Given the description of an element on the screen output the (x, y) to click on. 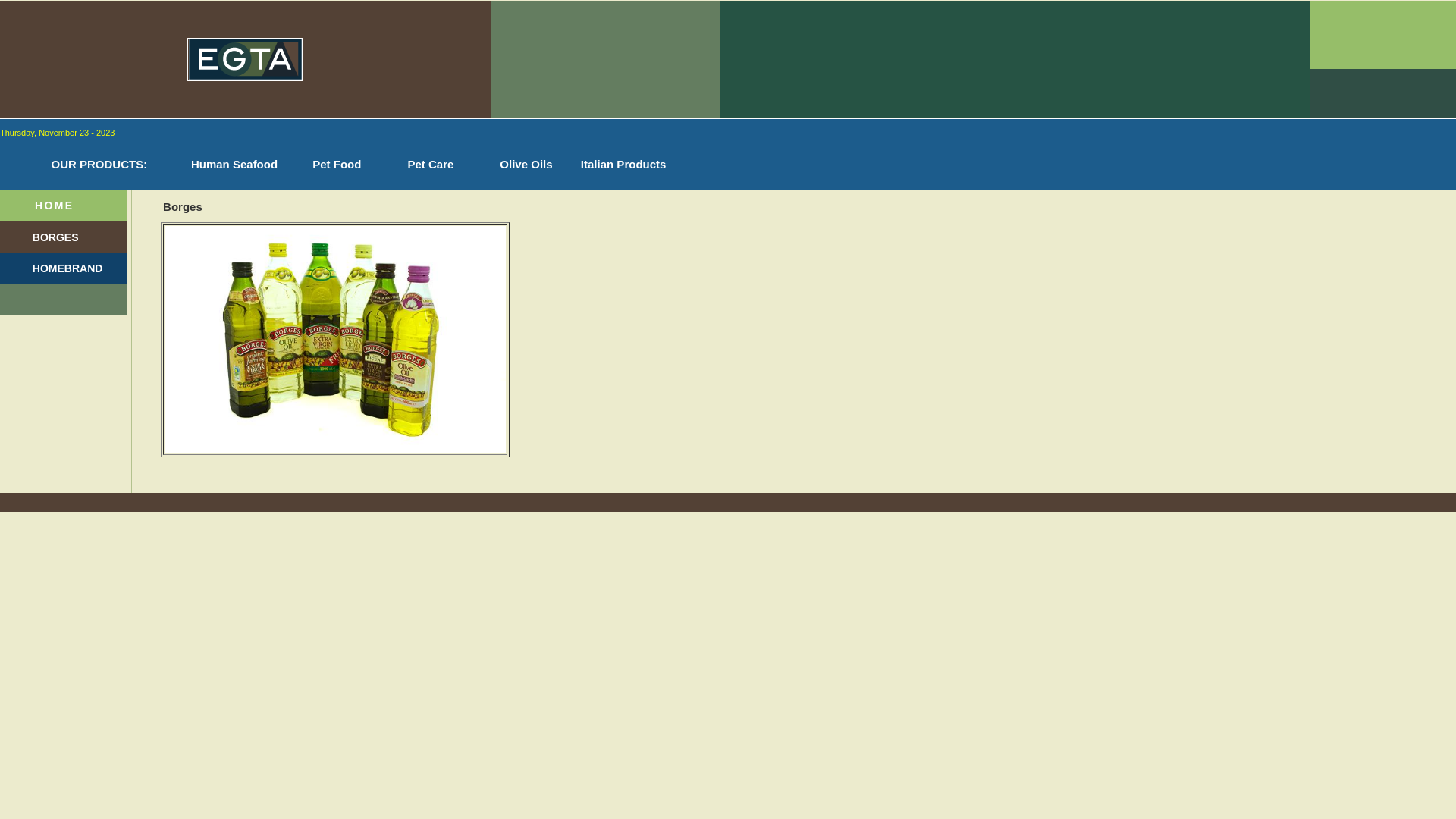
  Element type: text (43, 183)
        Pet Food Element type: text (324, 164)
HOME Element type: text (54, 205)
BORGES Element type: text (55, 236)
      Italian Products Element type: text (614, 164)
         Human Seafood Element type: text (220, 164)
: Element type: text (145, 164)
  OUR PRODUCTS Element type: text (94, 164)
HOMEBRAND Element type: text (67, 268)
       Olive Oils Element type: text (515, 164)
         Pet Care Element type: text (416, 164)
